Given the description of an element on the screen output the (x, y) to click on. 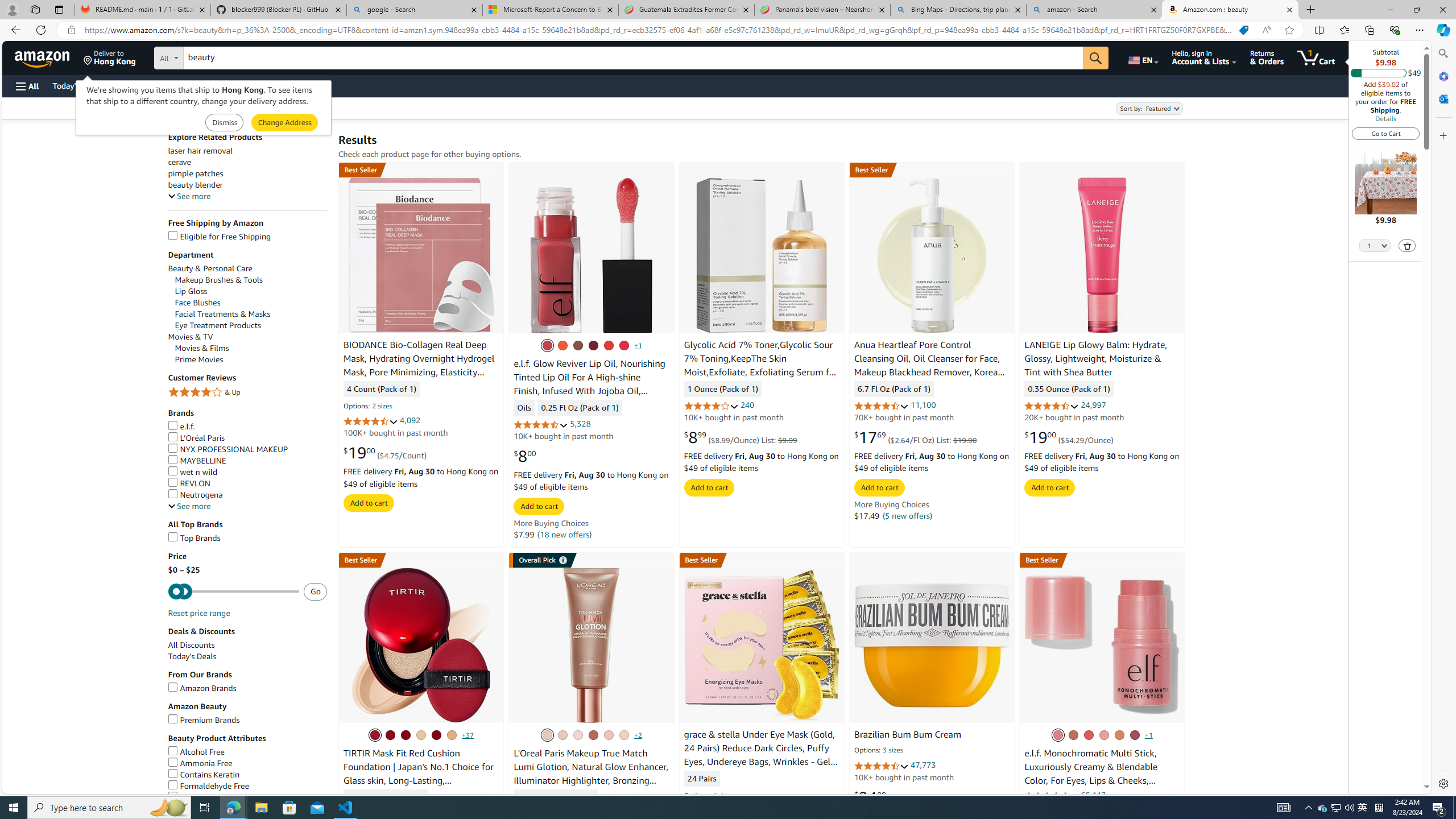
Add to cart (1049, 487)
901 Fair (562, 734)
Alcohol Free (195, 751)
Search Amazon (633, 57)
Dazzling Peony (1057, 734)
Glowing Mango (1118, 734)
$24.00 ( $9.45 /Fl Oz) (893, 797)
(5 new offers) (907, 515)
Customer Service (145, 85)
